Given the description of an element on the screen output the (x, y) to click on. 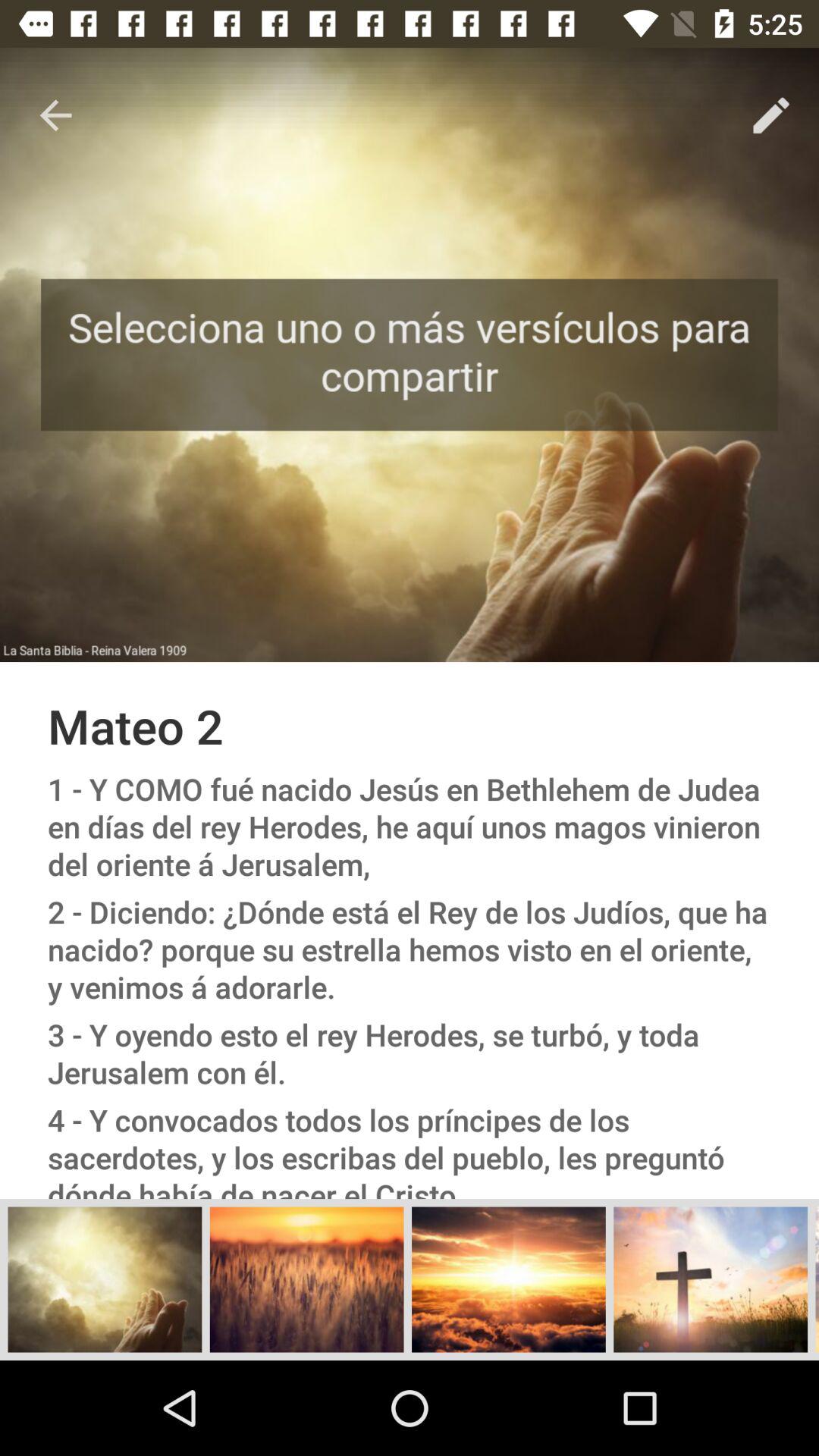
turn on the 1 y como item (409, 826)
